Given the description of an element on the screen output the (x, y) to click on. 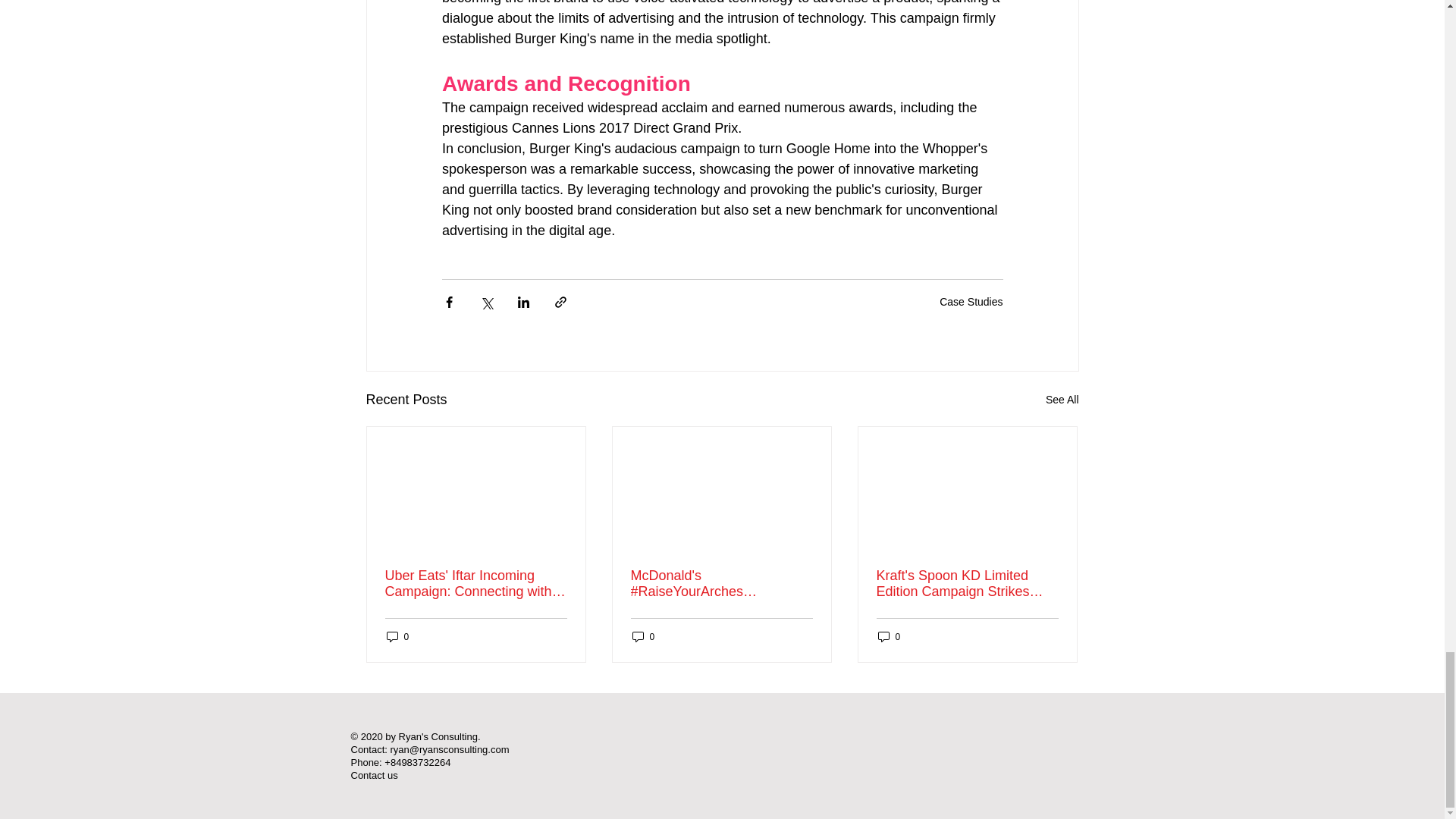
See All (1061, 400)
Case Studies (971, 301)
